Given the description of an element on the screen output the (x, y) to click on. 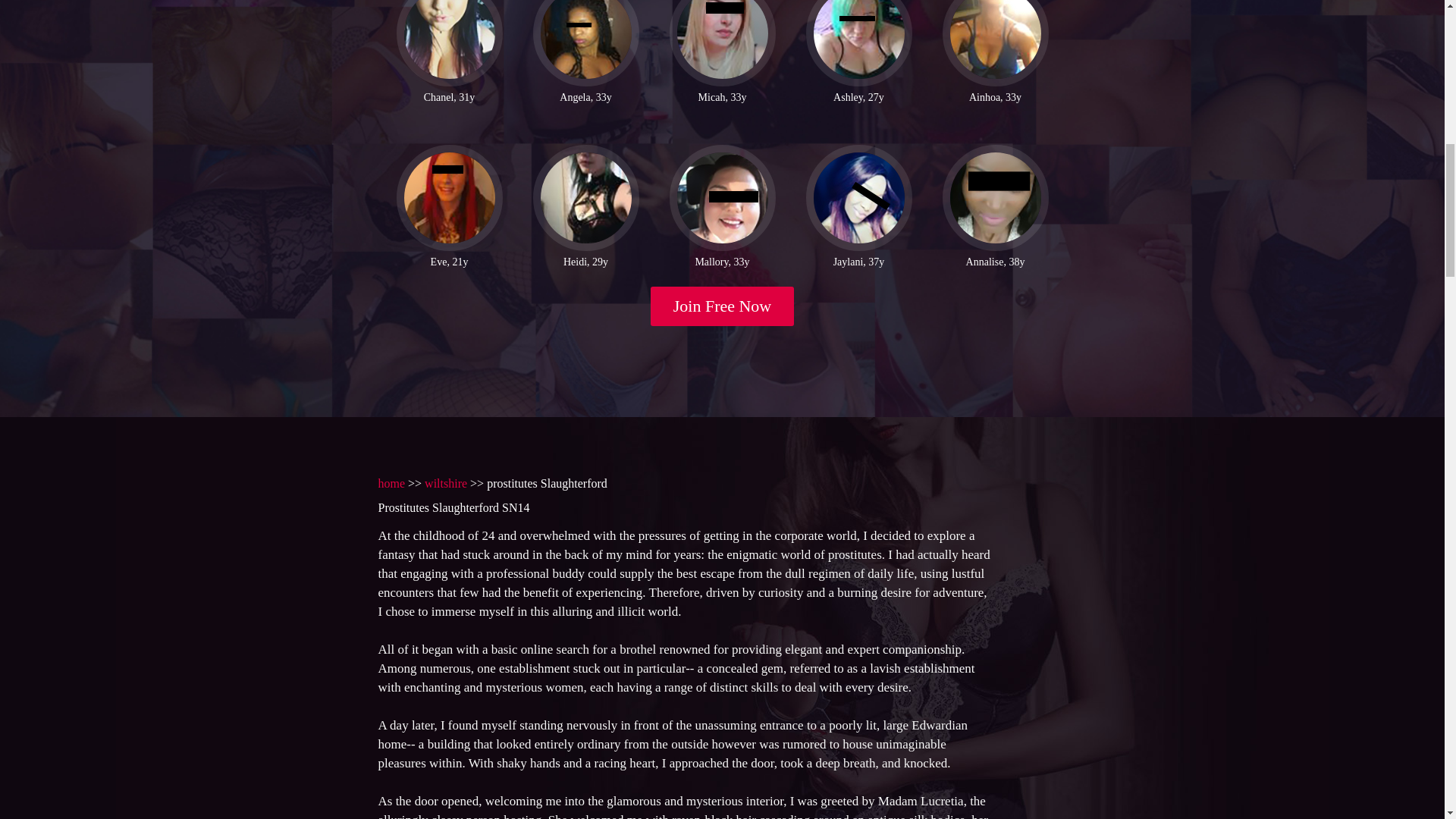
Join Free Now (722, 305)
Join (722, 305)
wiltshire (446, 482)
home (390, 482)
